Given the description of an element on the screen output the (x, y) to click on. 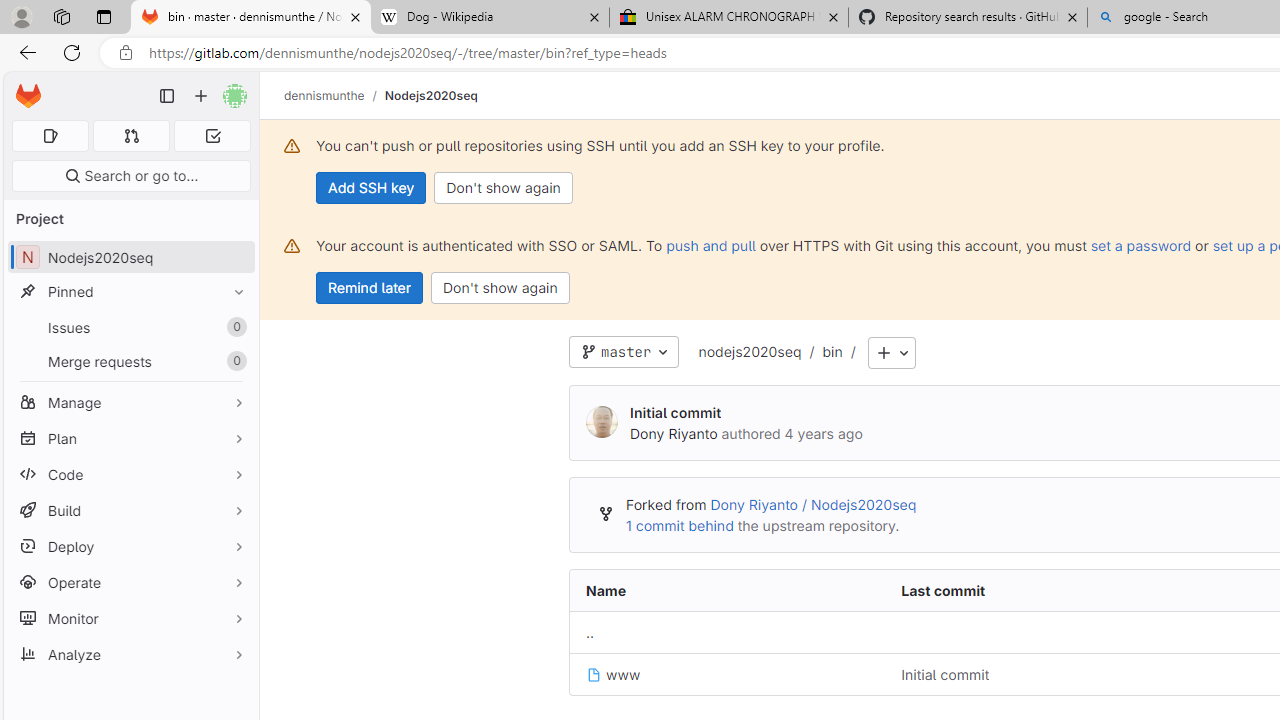
Initial commit (945, 674)
Class: s16 position-relative file-icon (593, 675)
Build (130, 510)
Deploy (130, 546)
Manage (130, 402)
To-Do list 0 (212, 136)
Remind later (369, 287)
bin (832, 351)
Code (130, 474)
Dony Riyanto (673, 433)
Assigned issues 0 (50, 136)
Pinned (130, 291)
Deploy (130, 546)
Dony Riyanto's avatar (602, 423)
